Given the description of an element on the screen output the (x, y) to click on. 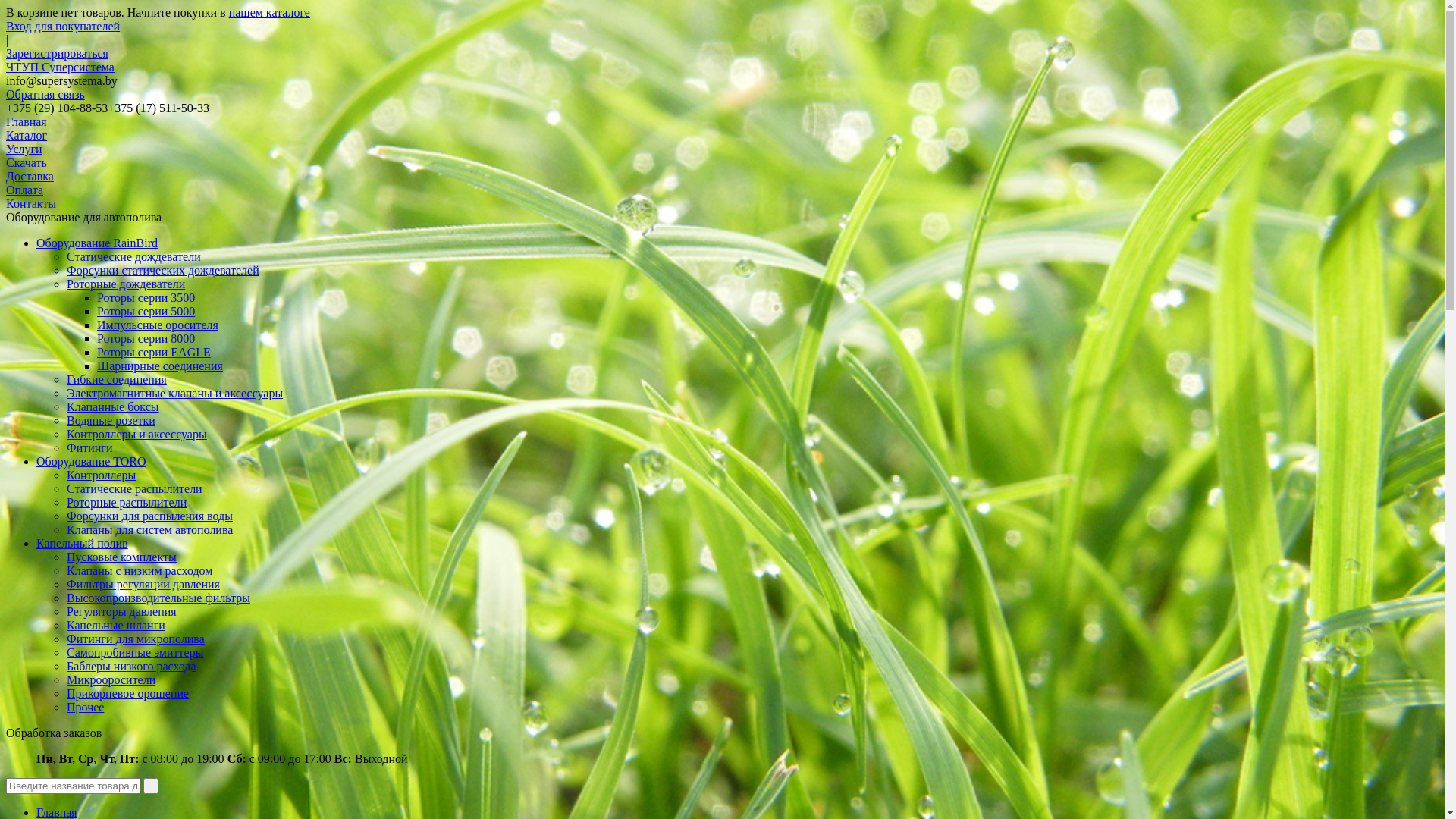
  Element type: text (150, 785)
